Given the description of an element on the screen output the (x, y) to click on. 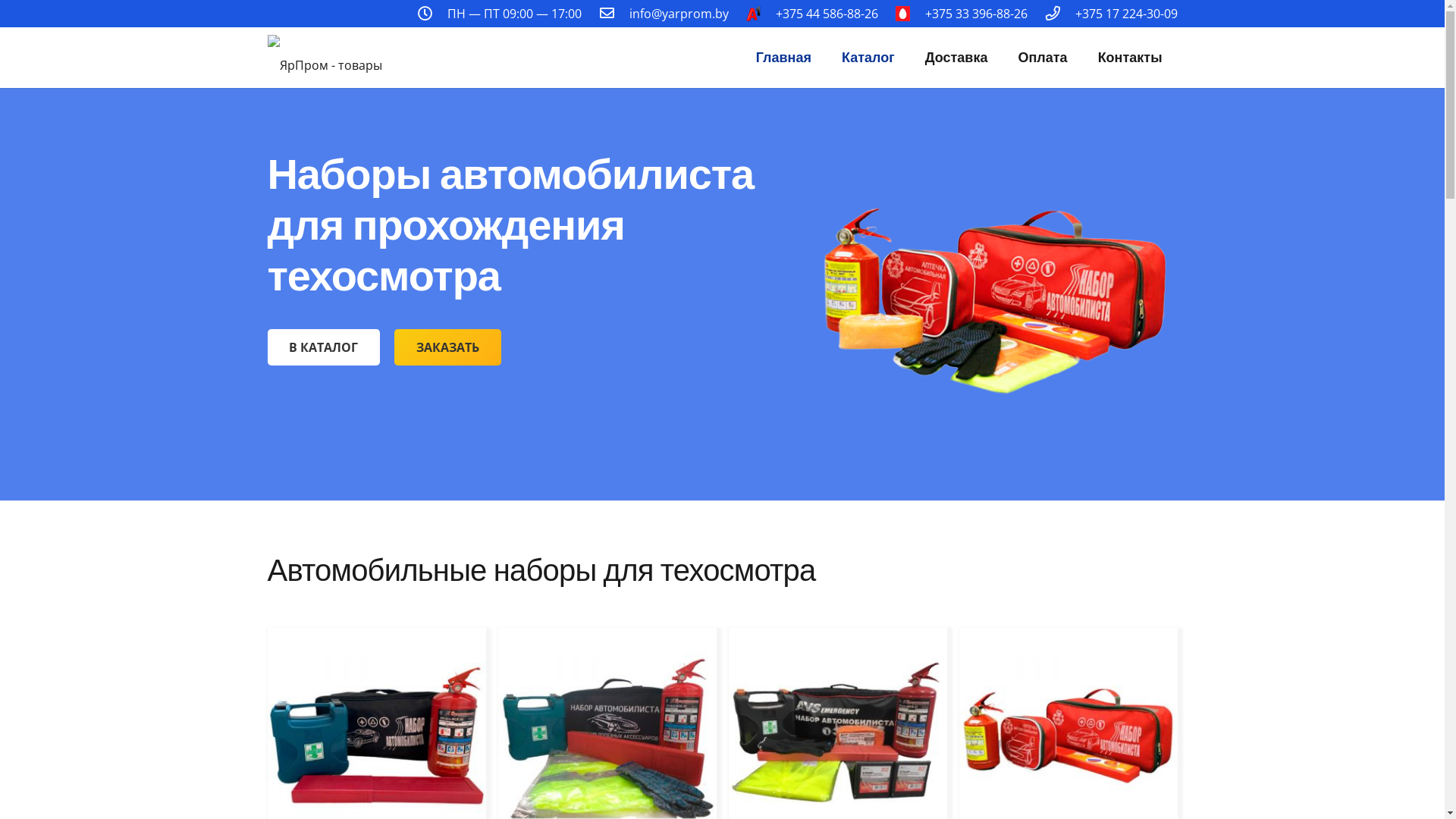
info@yarprom.by Element type: text (678, 13)
